Given the description of an element on the screen output the (x, y) to click on. 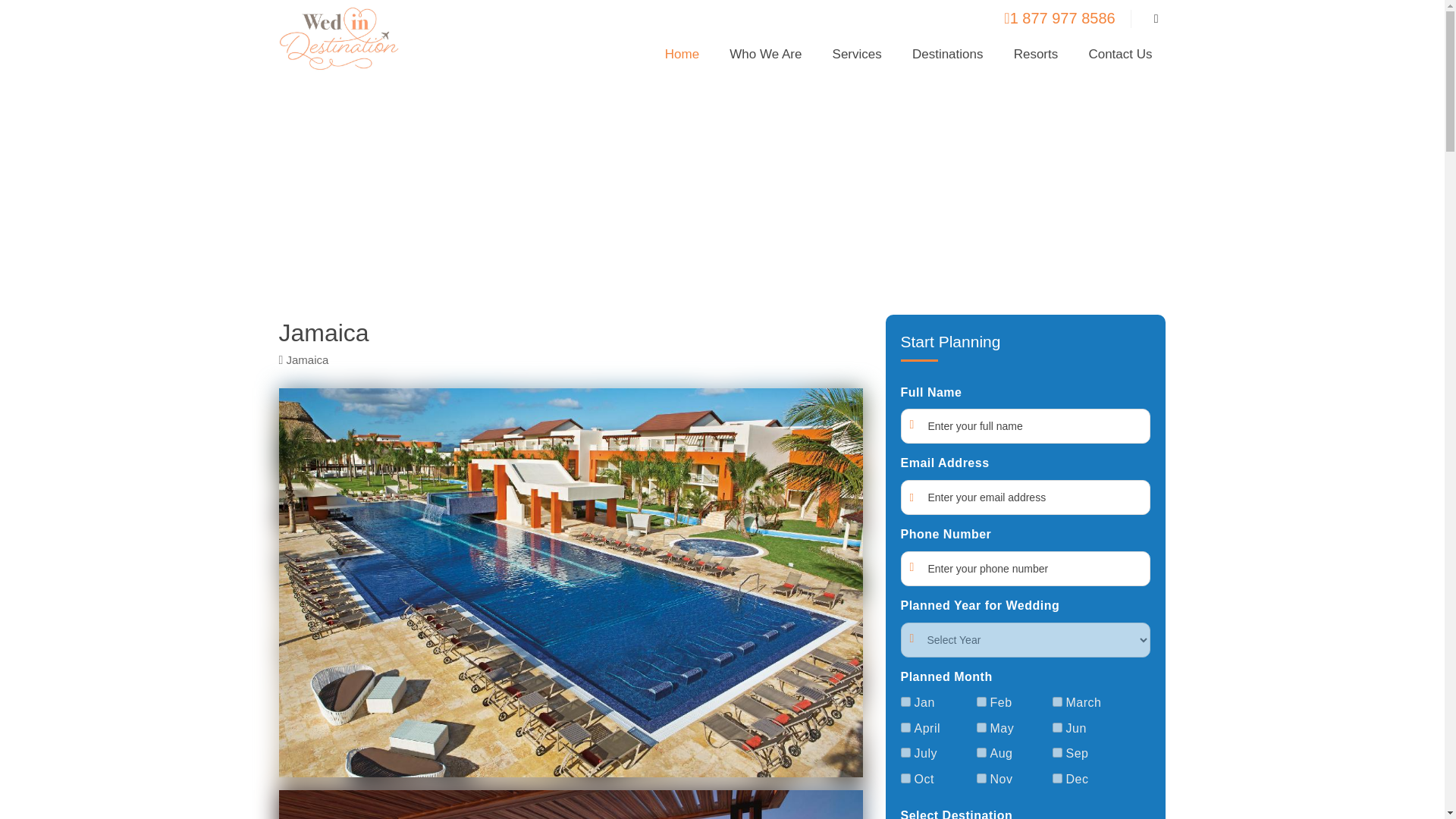
 March  (1057, 701)
Services (856, 58)
 May  (981, 727)
 Jun  (1057, 727)
 July  (906, 752)
 Sep  (1057, 752)
 Dec  (1057, 777)
 April  (906, 727)
 Aug  (981, 752)
Who We Are (765, 58)
Contact Us (1120, 58)
Top places for destination wedding in Jamaica (722, 191)
 Feb  (981, 701)
Destinations (947, 58)
 Nov  (981, 777)
